Given the description of an element on the screen output the (x, y) to click on. 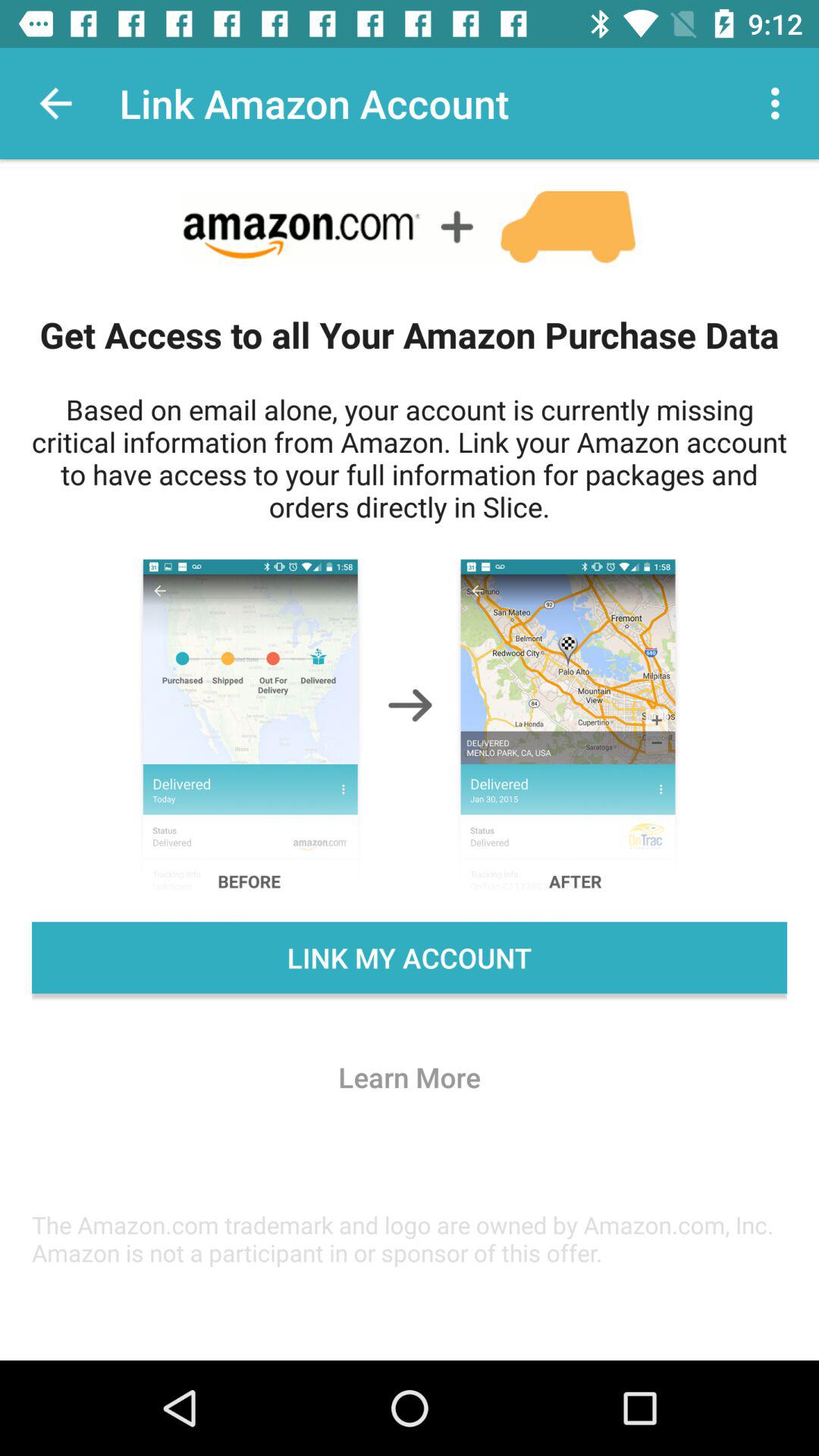
launch the icon above the amazon com icon (409, 1077)
